Given the description of an element on the screen output the (x, y) to click on. 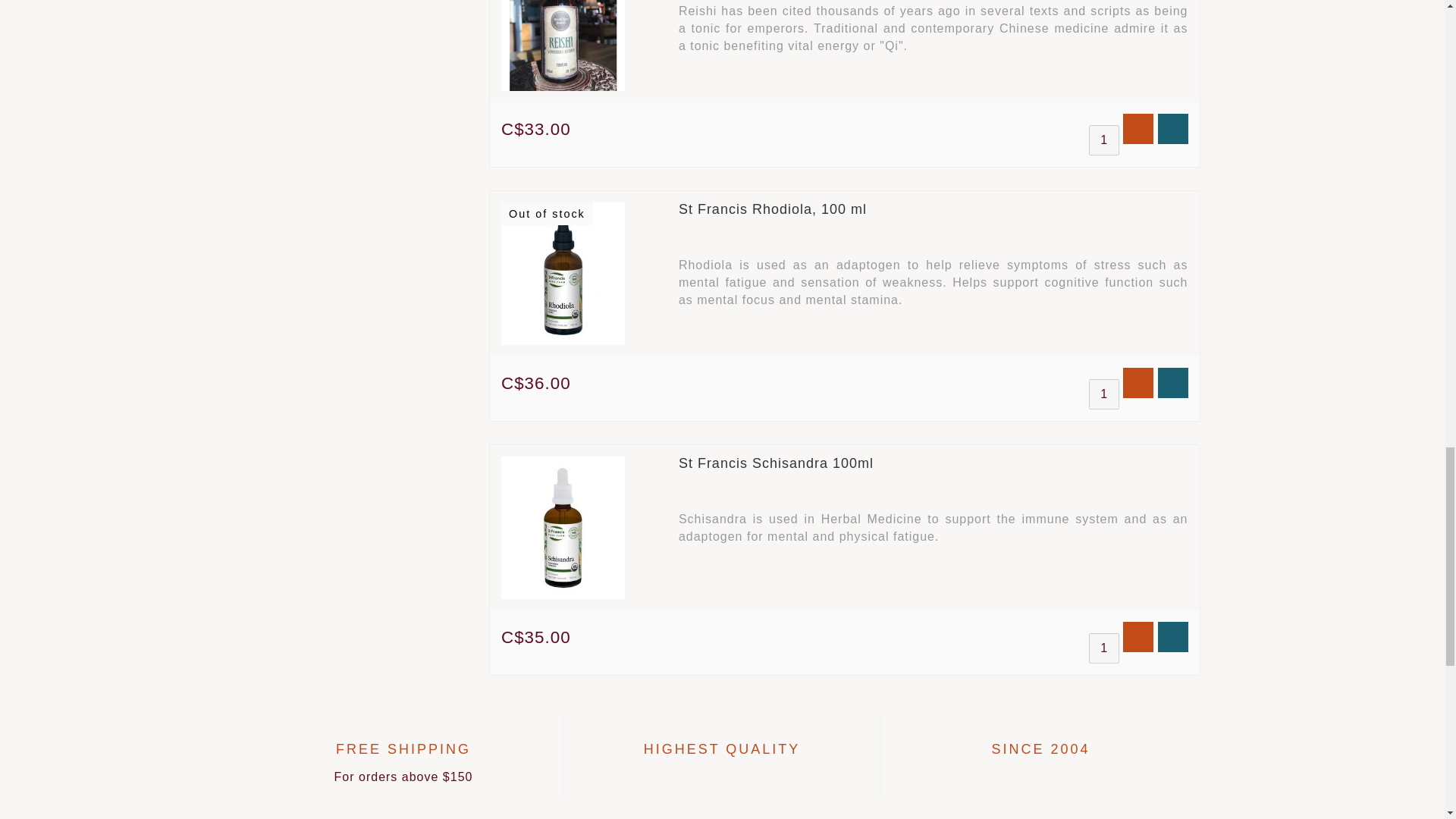
1 (1104, 394)
St Francis Rhodiola, 100 ml (772, 209)
St Francis Schisandra 100ml (775, 462)
Hollow Reed Herbals Reishi Tincture 100 ml (562, 45)
1 (1104, 648)
1 (1104, 140)
